Given the description of an element on the screen output the (x, y) to click on. 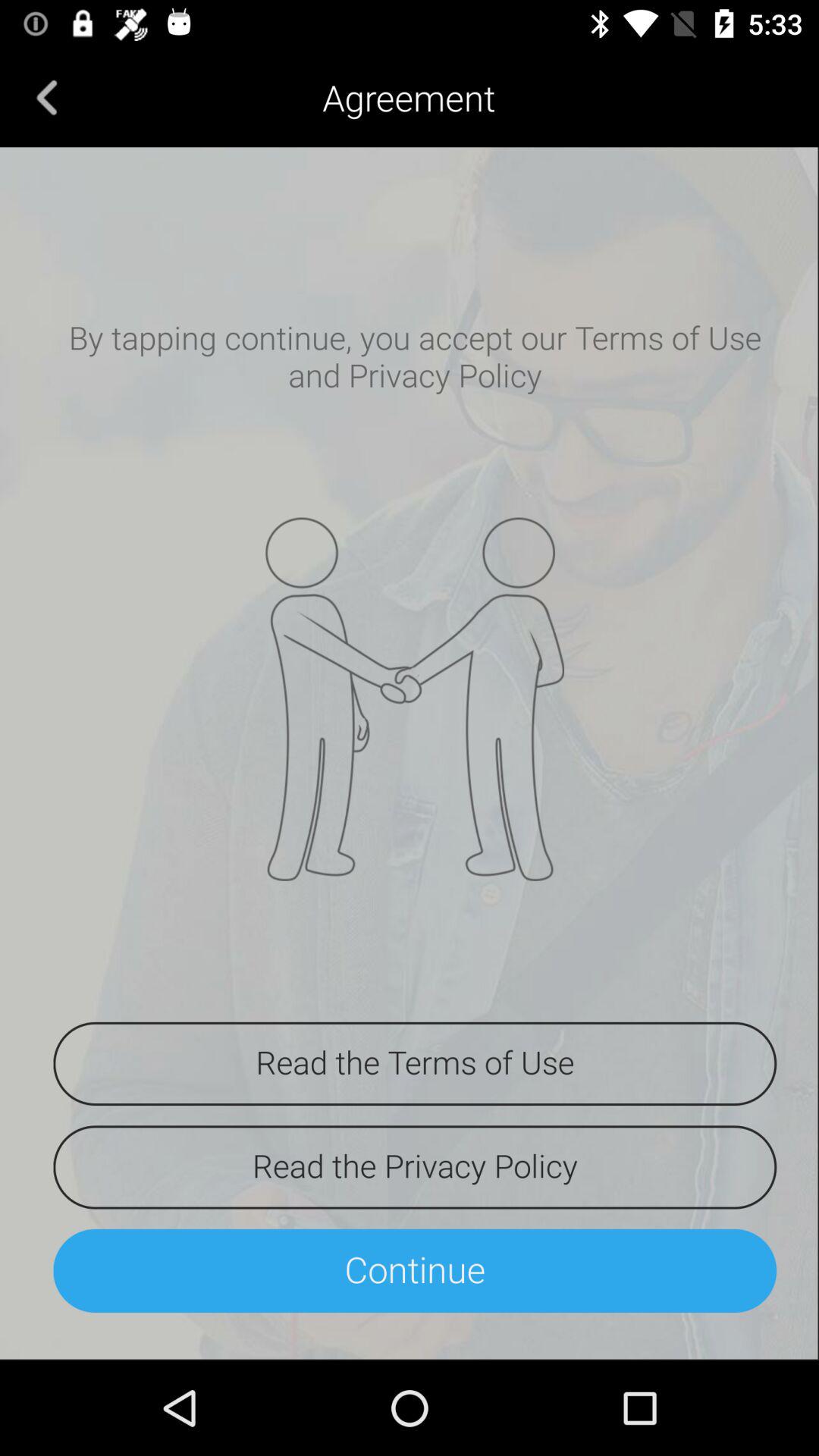
choose the icon next to agreement item (47, 97)
